Given the description of an element on the screen output the (x, y) to click on. 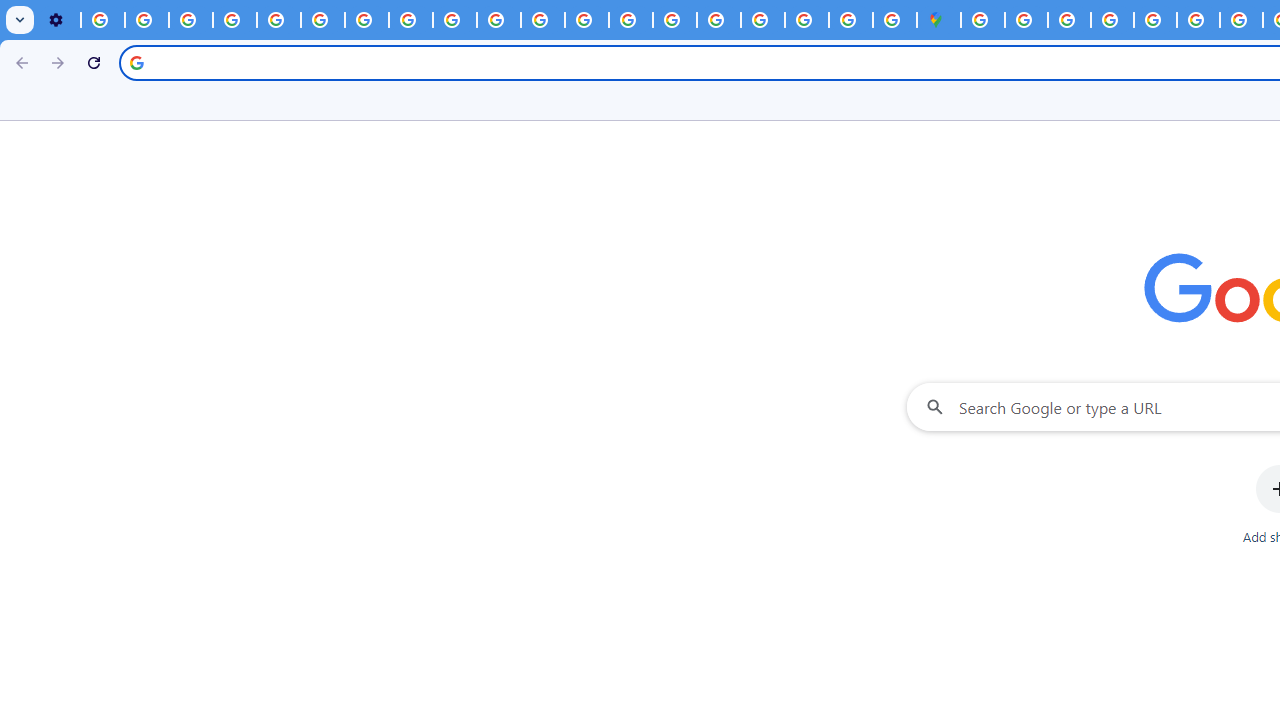
Privacy Help Center - Policies Help (278, 20)
Privacy Help Center - Policies Help (1197, 20)
Privacy Checkup (454, 20)
Google Account Help (234, 20)
Privacy Help Center - Policies Help (1241, 20)
Sign in - Google Accounts (982, 20)
Terms and Conditions (1155, 20)
